Given the description of an element on the screen output the (x, y) to click on. 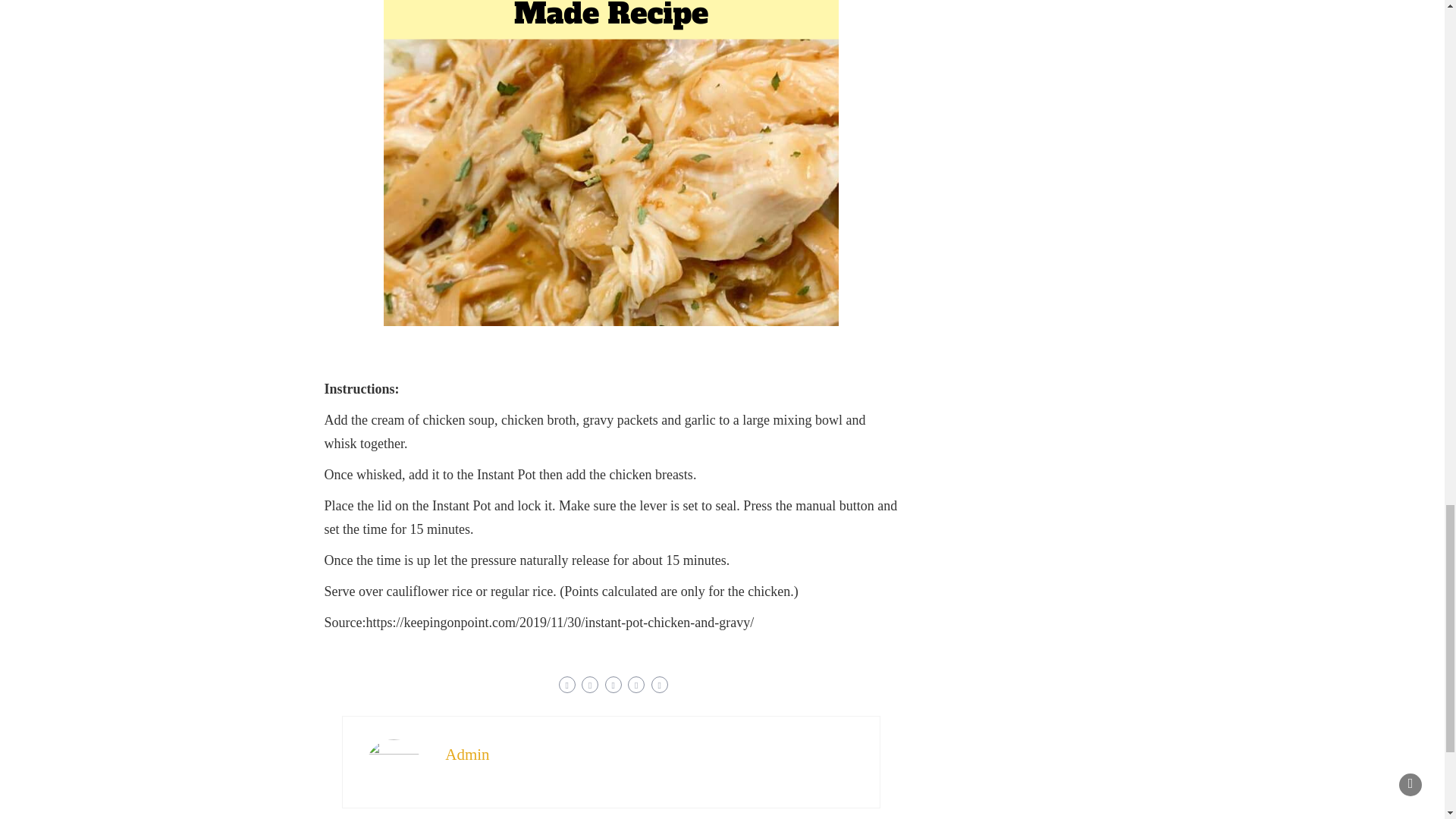
Admin (467, 754)
